Given the description of an element on the screen output the (x, y) to click on. 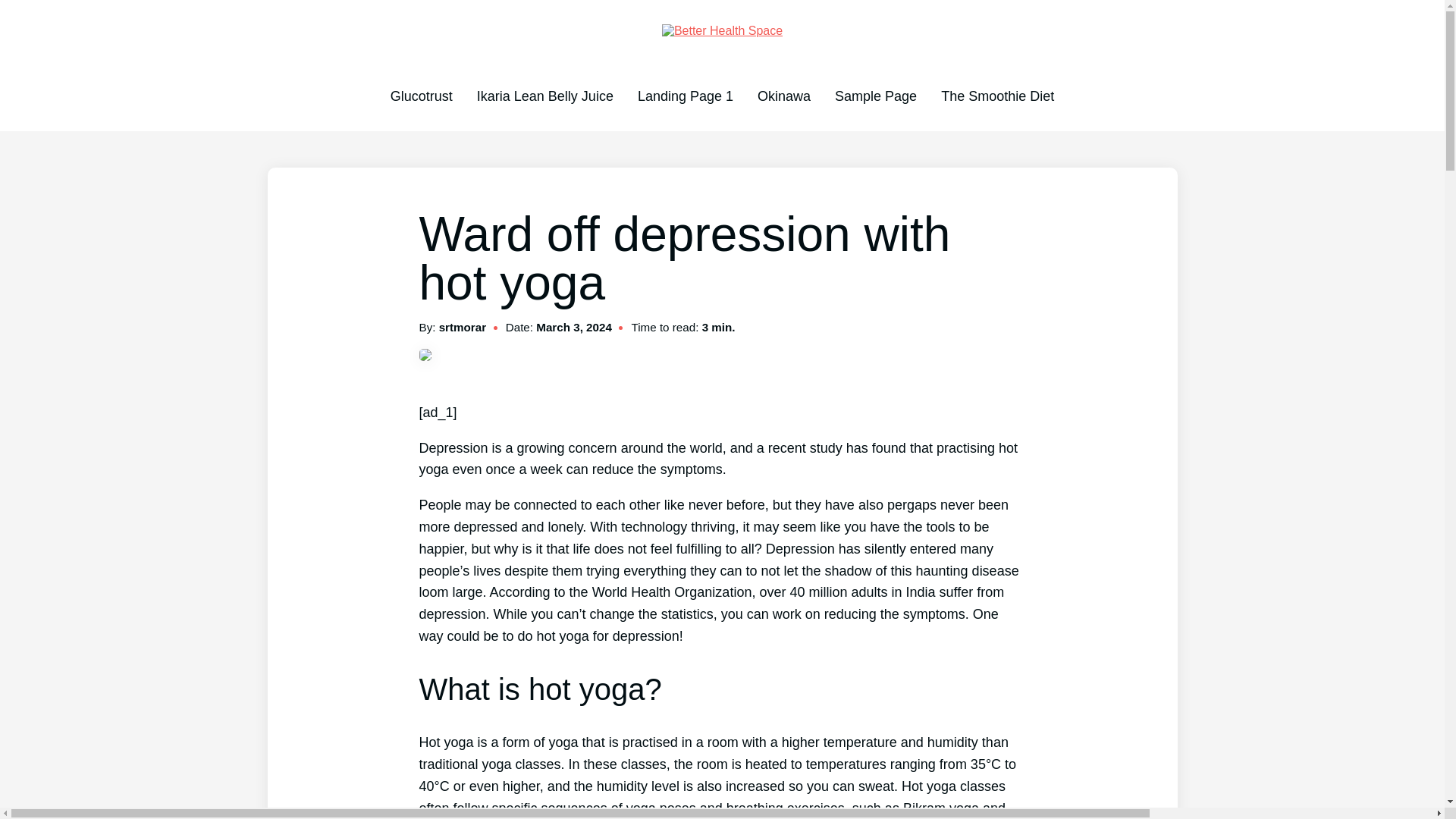
Glucotrust (421, 96)
Okinawa (783, 96)
The Smoothie Diet (997, 96)
Landing Page 1 (685, 96)
Ikaria Lean Belly Juice (544, 96)
Sample Page (875, 96)
